Given the description of an element on the screen output the (x, y) to click on. 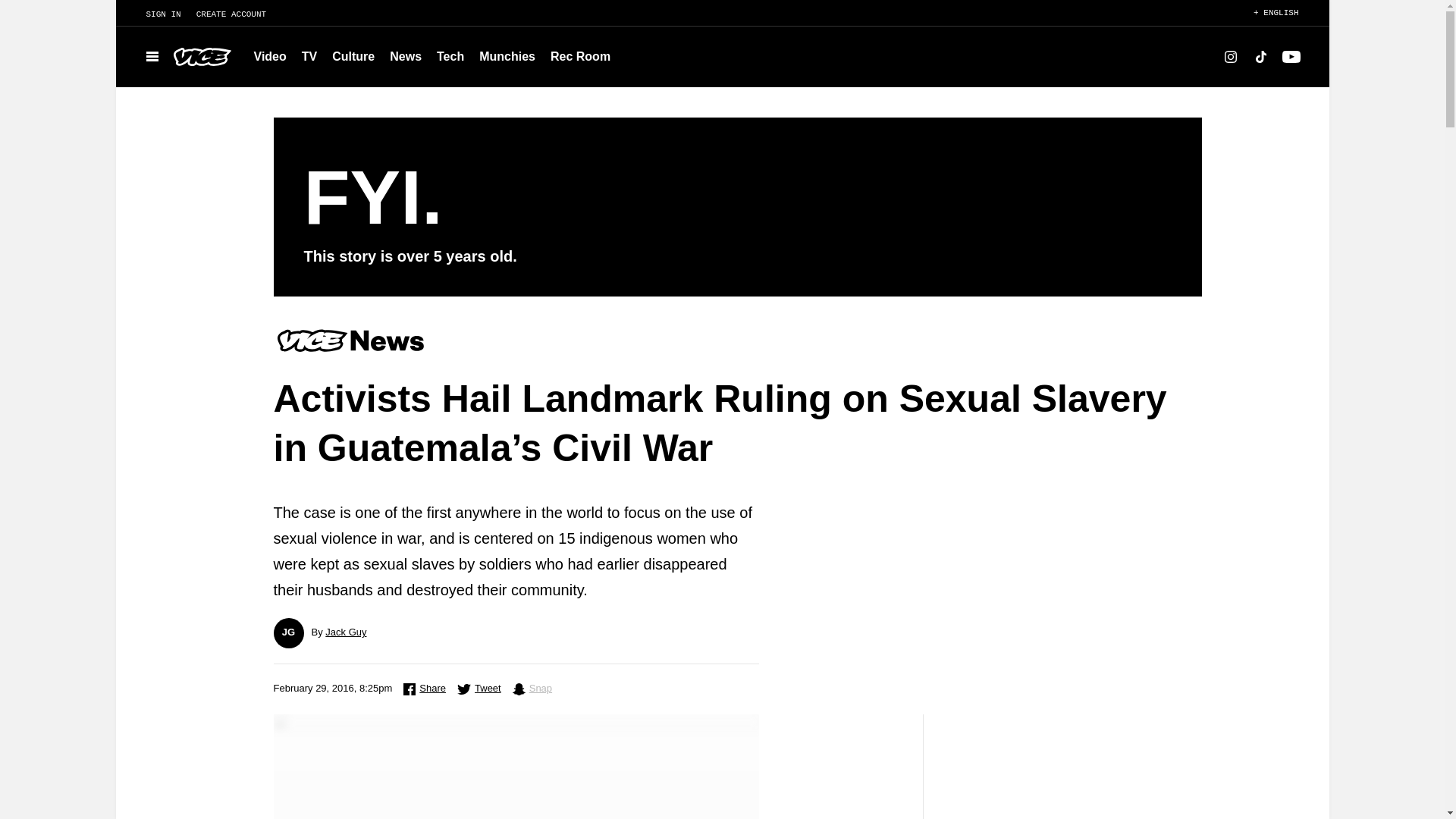
Culture (352, 56)
CREATE ACCOUNT (238, 13)
TV (309, 56)
Share on Snapchat (531, 689)
Rec Room (580, 56)
Video (270, 56)
News (405, 56)
Munchies (507, 56)
Tech (450, 56)
SIGN IN (155, 13)
